Given the description of an element on the screen output the (x, y) to click on. 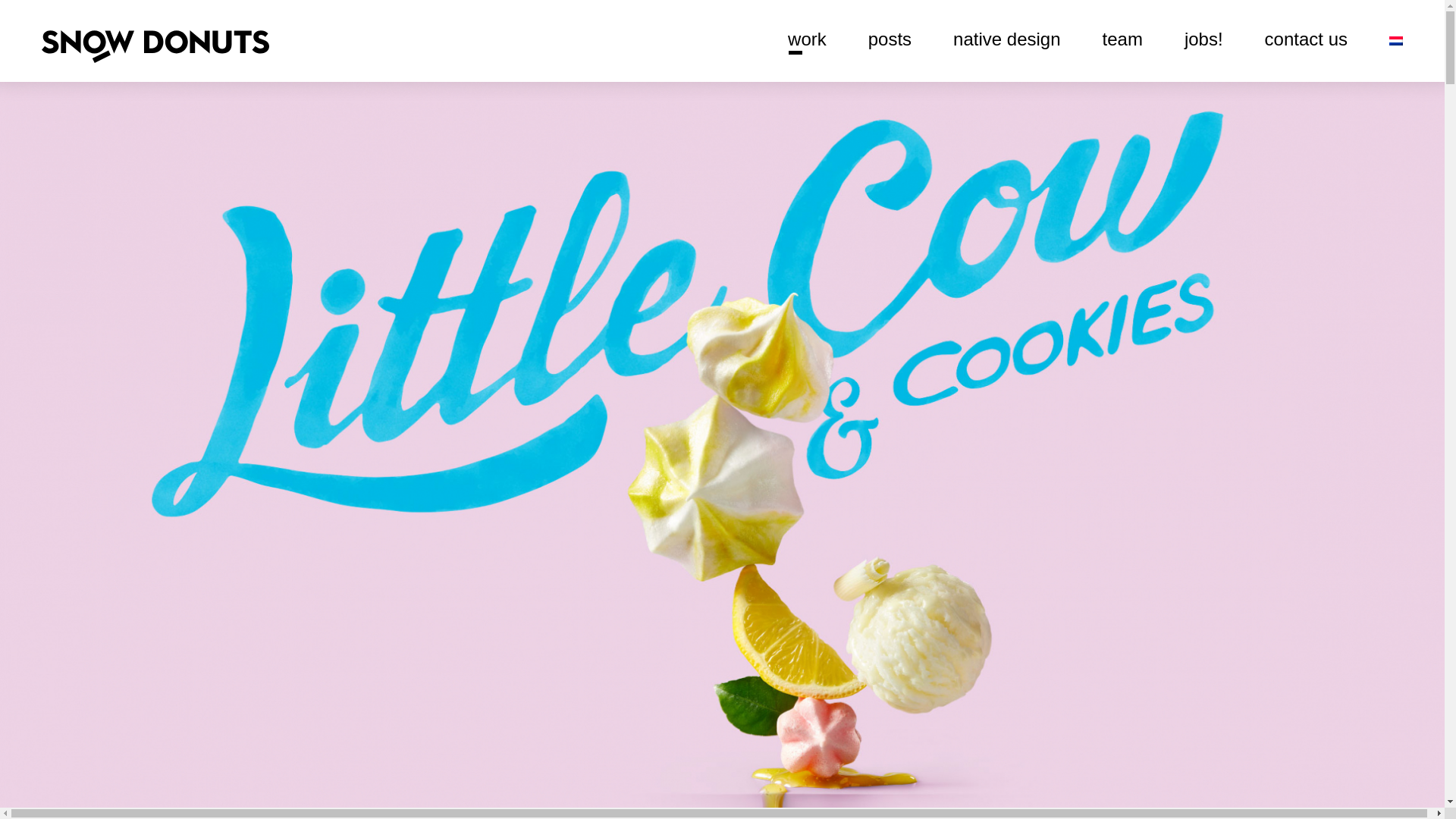
jobs! (1204, 39)
native design (1006, 39)
team (1122, 39)
contact us (1306, 39)
posts (889, 39)
work (807, 39)
